Given the description of an element on the screen output the (x, y) to click on. 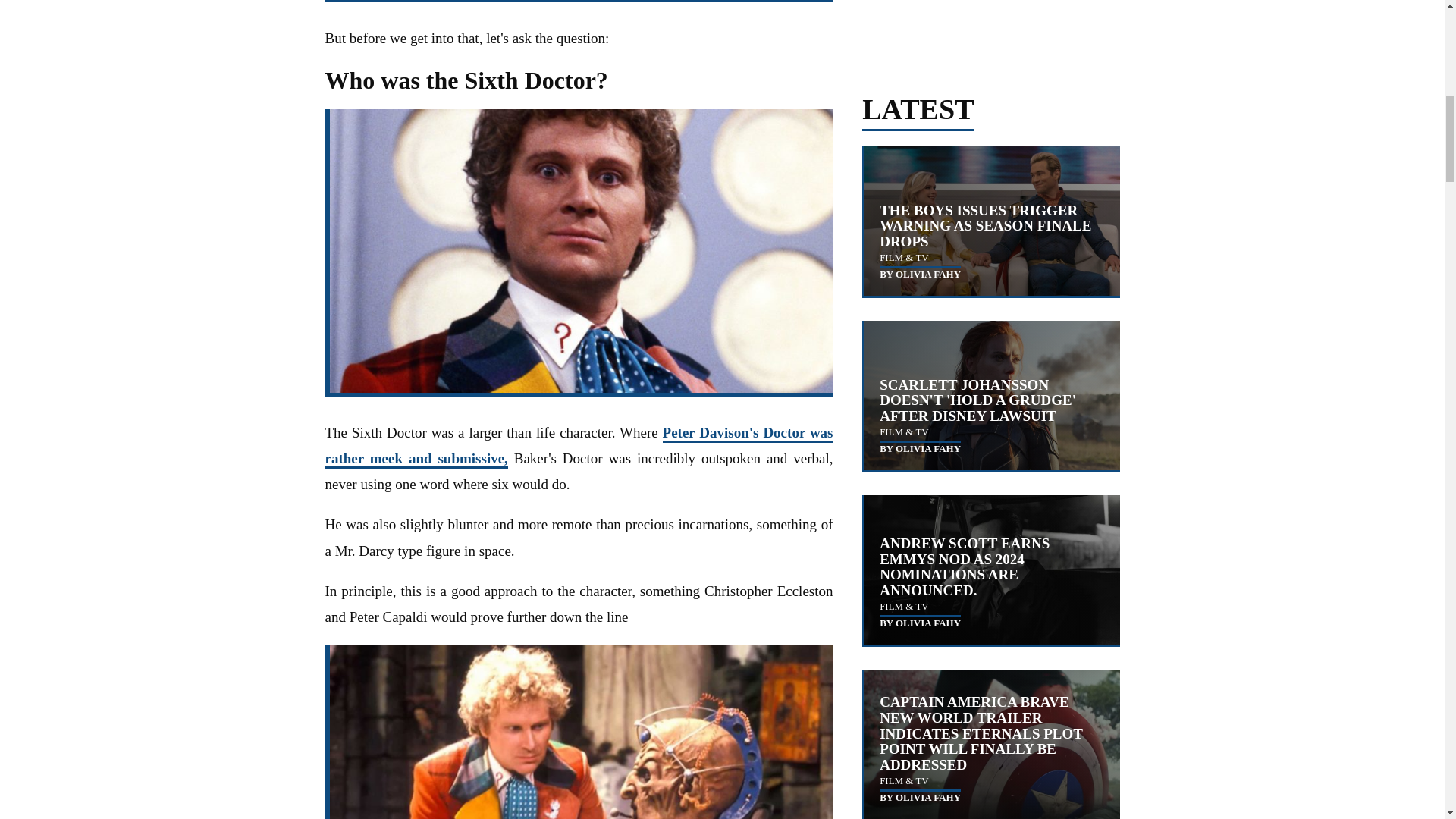
Peter Davison's Doctor was rather meek and submissive, (578, 446)
